Given the description of an element on the screen output the (x, y) to click on. 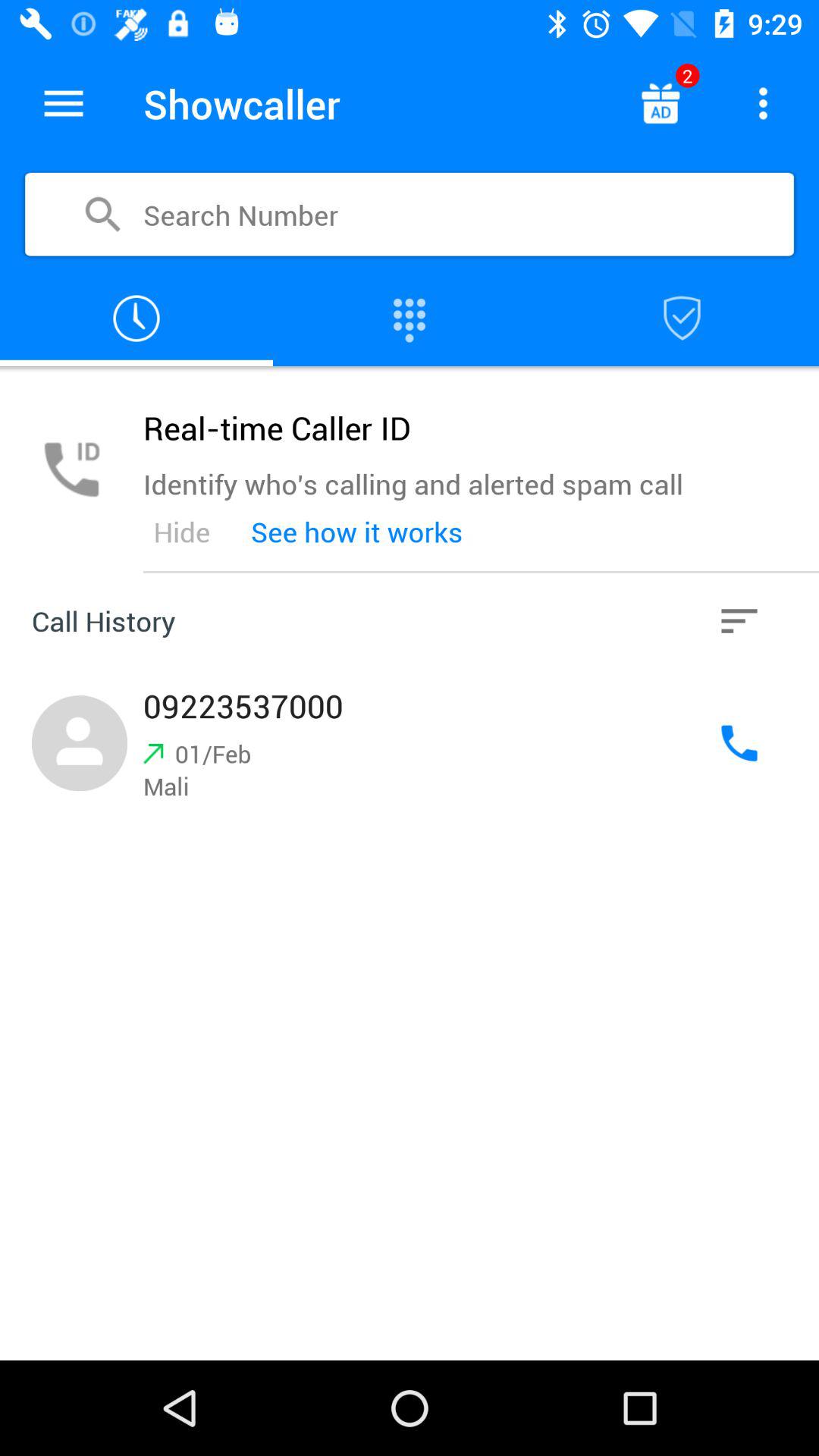
advertisement (659, 103)
